Given the description of an element on the screen output the (x, y) to click on. 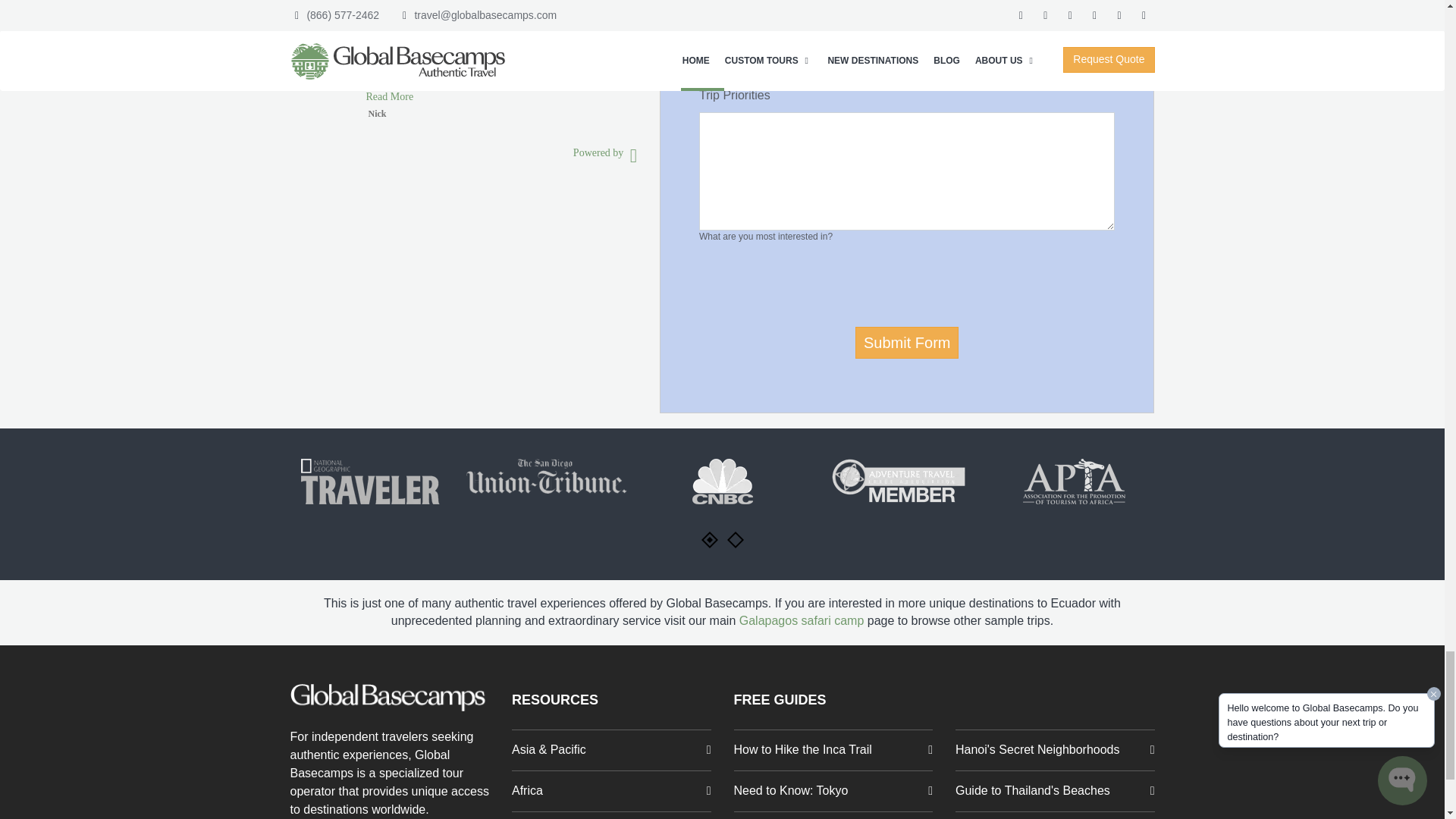
Hanoi's Secret Neighborhoods (1054, 750)
Need to Know: Tokyo (833, 791)
Guide to Thailand's Beaches (1054, 791)
How to Hike the Inca Trail (833, 750)
Traveler Guides, Tips, and Tricks for Africa (611, 791)
Galapagos safari camp (801, 620)
